Given the description of an element on the screen output the (x, y) to click on. 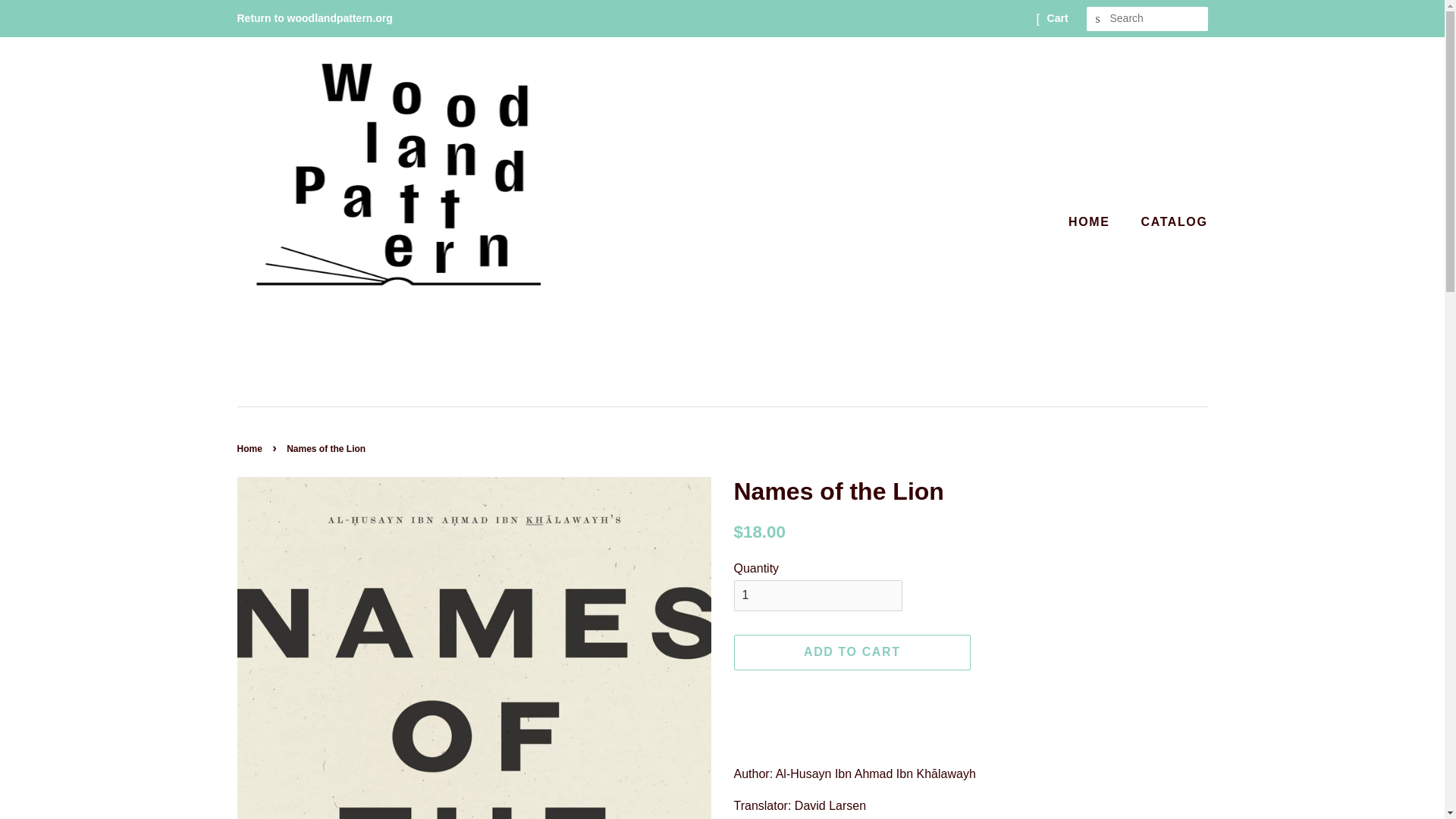
SEARCH (1097, 18)
Return to woodlandpattern.org (313, 18)
1 (817, 594)
Cart (1057, 18)
CATALOG (1168, 221)
Back to the frontpage (249, 448)
HOME (1096, 221)
Home (249, 448)
ADD TO CART (852, 652)
